Given the description of an element on the screen output the (x, y) to click on. 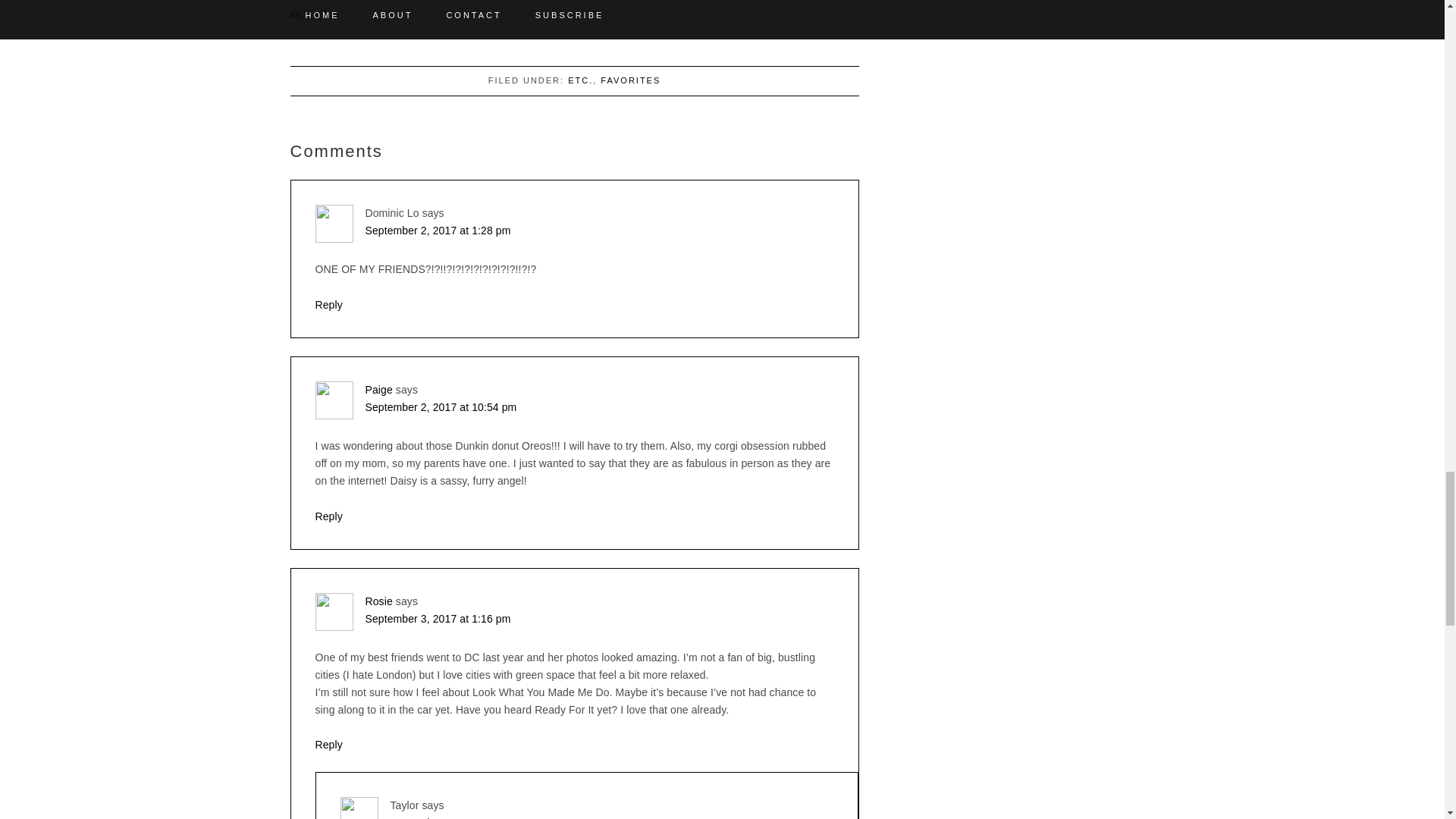
Paige (379, 389)
September 2, 2017 at 1:28 pm (438, 230)
Reply (328, 516)
September 3, 2017 at 1:16 pm (438, 618)
Reply (328, 304)
September 5, 2017 at 11:57 am (465, 817)
Rosie (379, 601)
September 2, 2017 at 10:54 pm (440, 407)
Reply (328, 744)
FAVORITES (630, 80)
ETC. (579, 80)
